Given the description of an element on the screen output the (x, y) to click on. 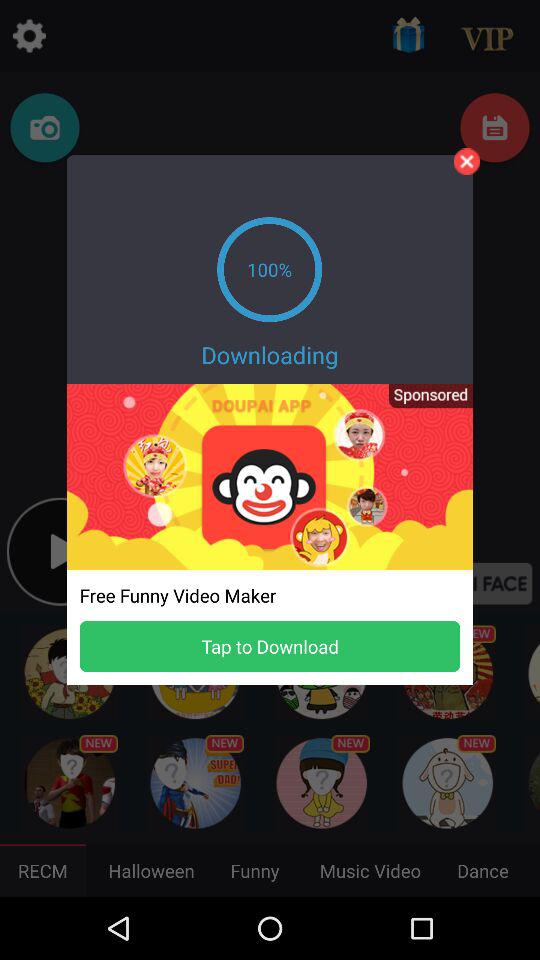
turn off the icon above the tap to download icon (424, 402)
